Given the description of an element on the screen output the (x, y) to click on. 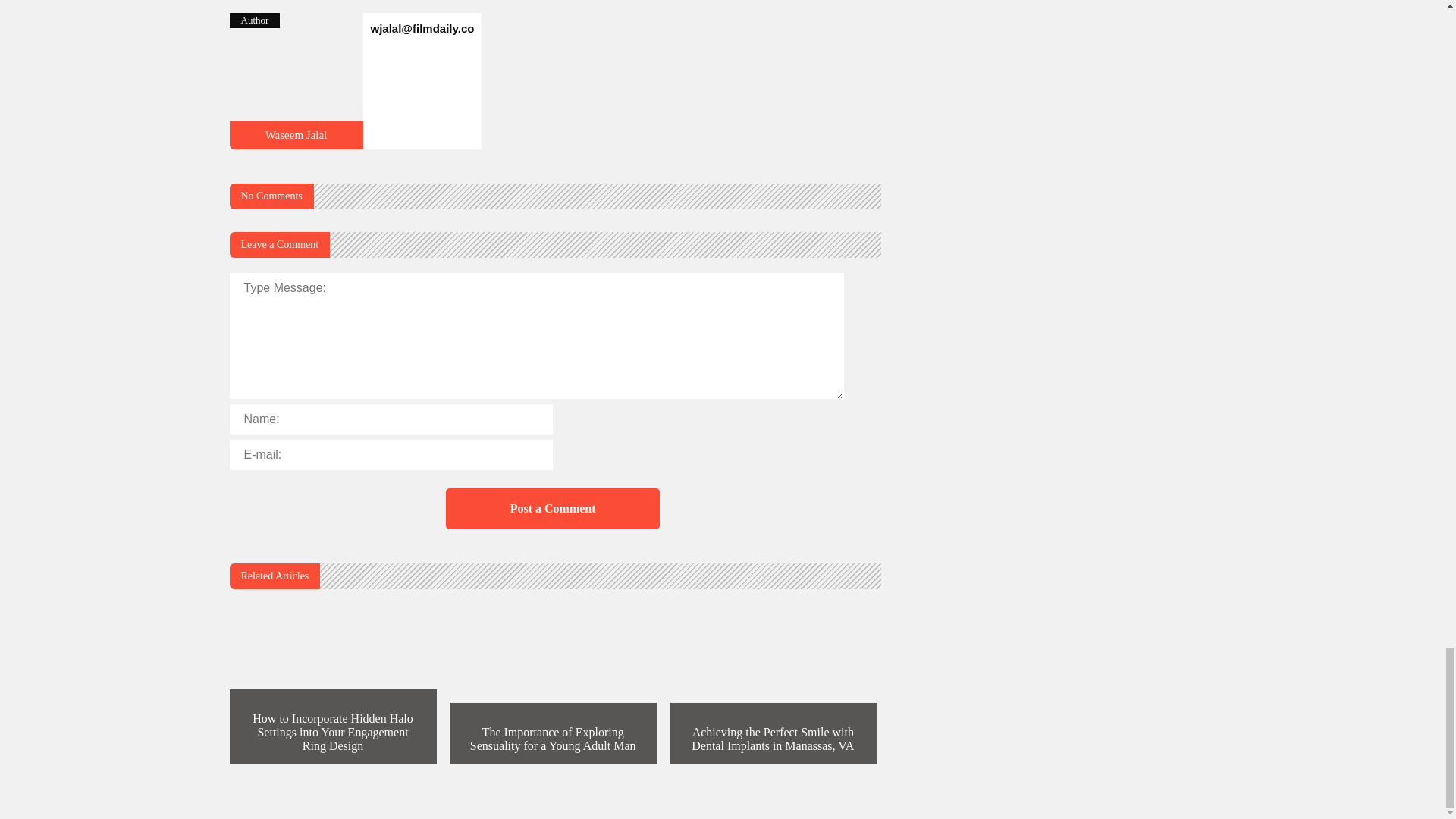
Post a Comment (552, 508)
